Given the description of an element on the screen output the (x, y) to click on. 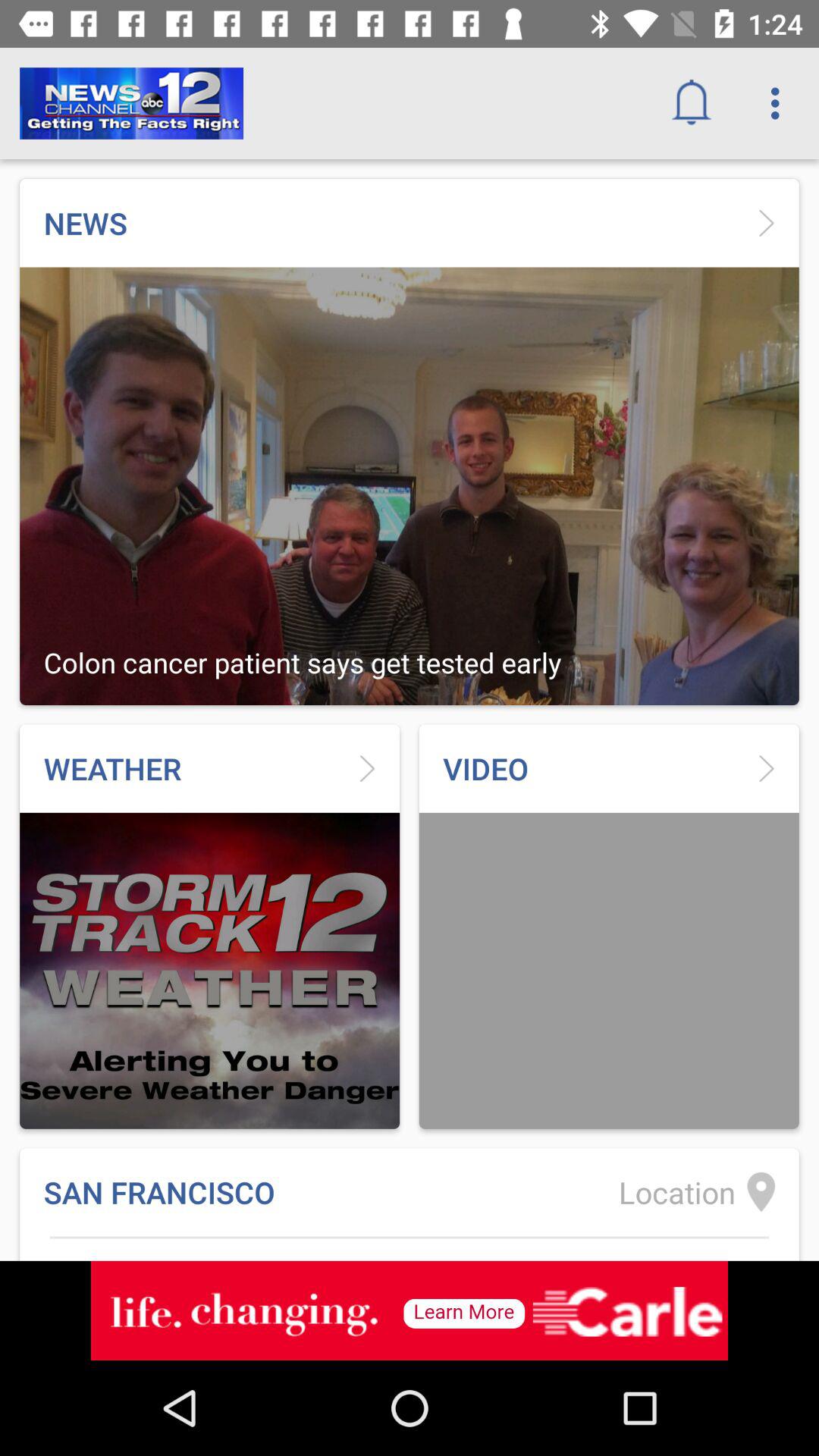
click on the weather picture at the bottom (209, 970)
